Given the description of an element on the screen output the (x, y) to click on. 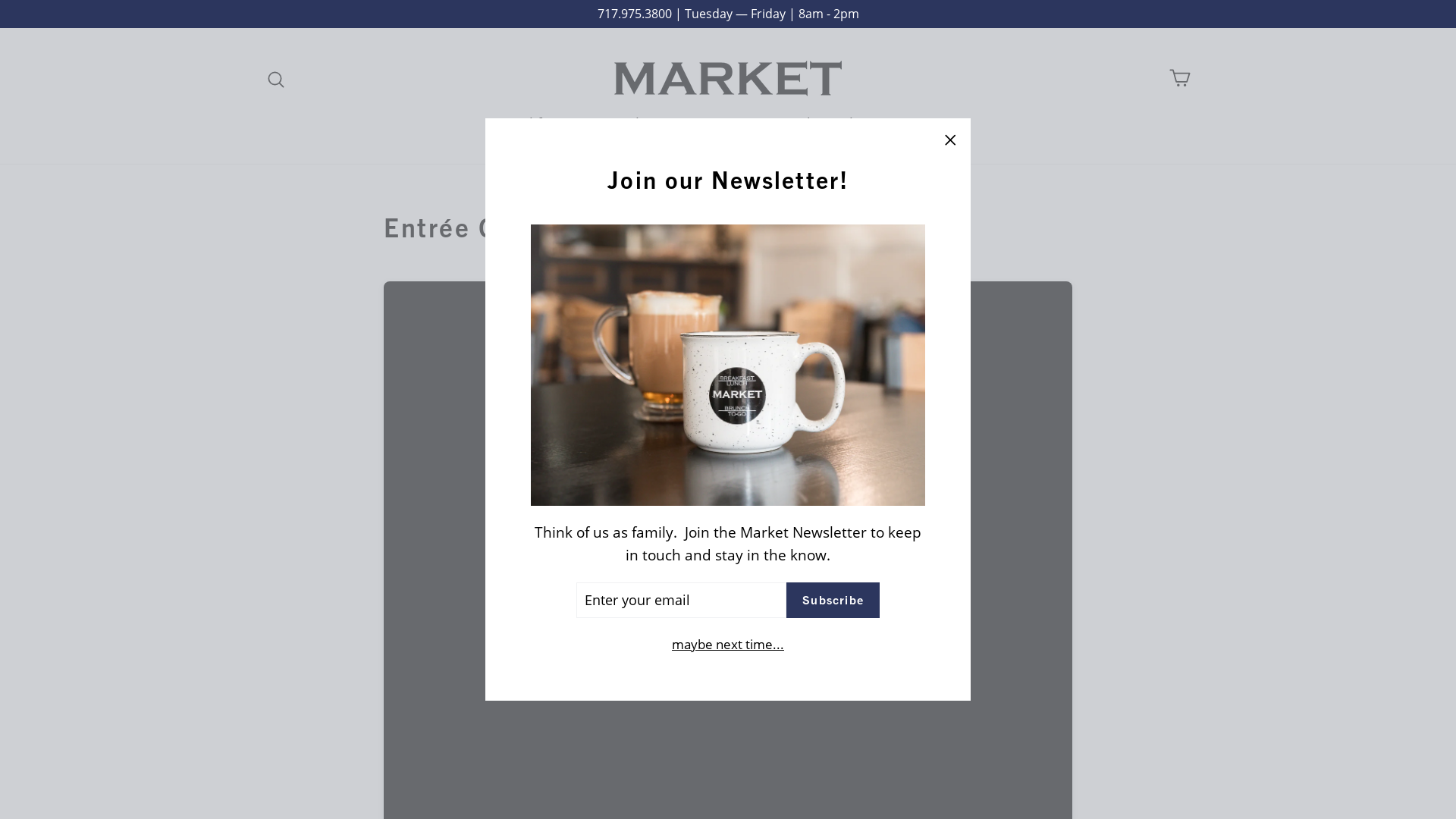
maybe next time... Element type: text (727, 644)
Skip to content Element type: text (0, 0)
Reviews Element type: text (930, 123)
Catering Element type: text (720, 123)
Subscribe Element type: text (832, 600)
Search Element type: text (275, 77)
Cart Element type: text (1179, 78)
Order Online! Element type: text (829, 123)
Lunch Element type: text (631, 123)
Breakfast Element type: text (536, 123)
"Close (esc)" Element type: text (949, 139)
